Given the description of an element on the screen output the (x, y) to click on. 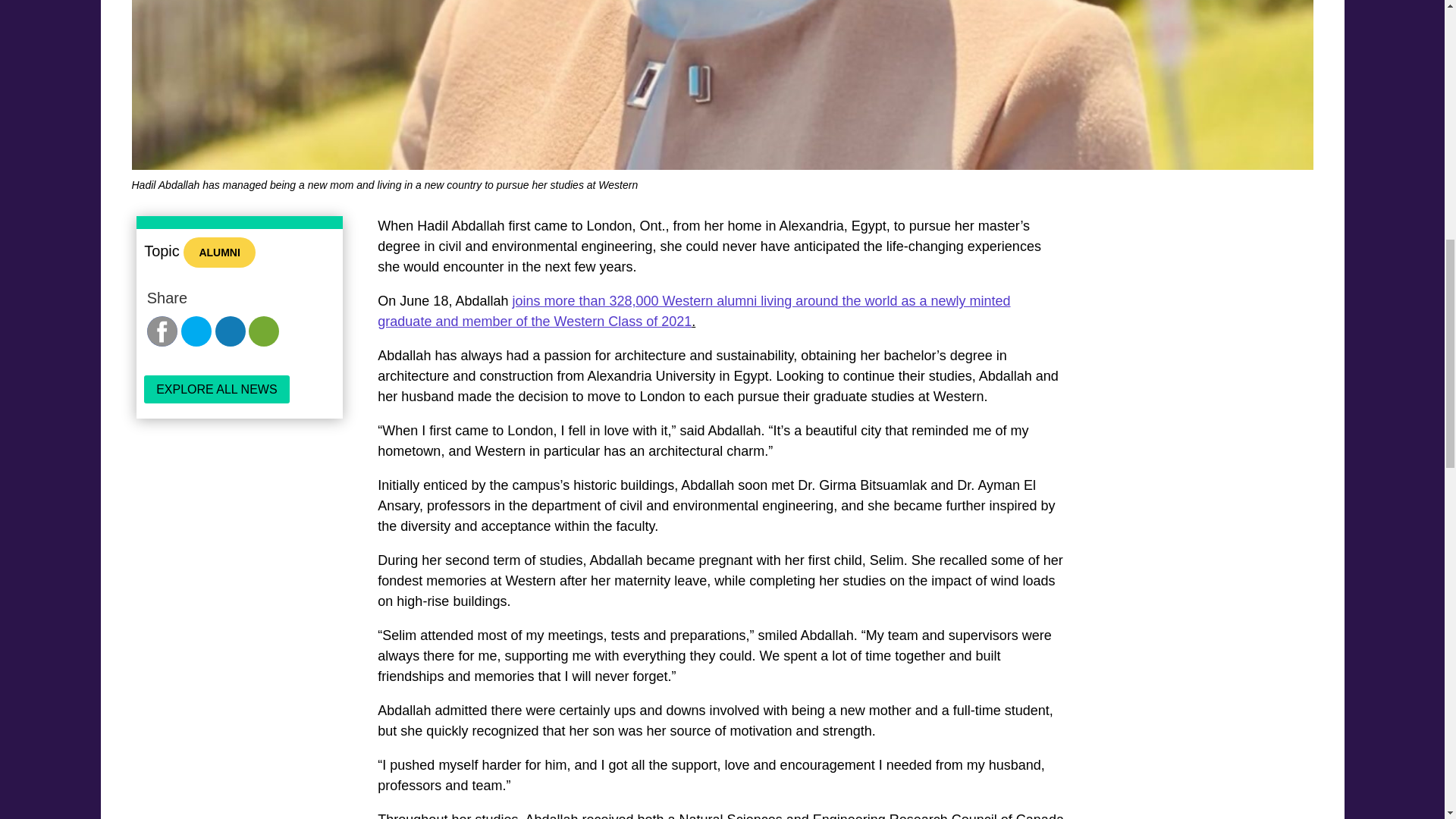
EXPLORE ALL NEWS (216, 389)
ALUMNI (218, 252)
